Given the description of an element on the screen output the (x, y) to click on. 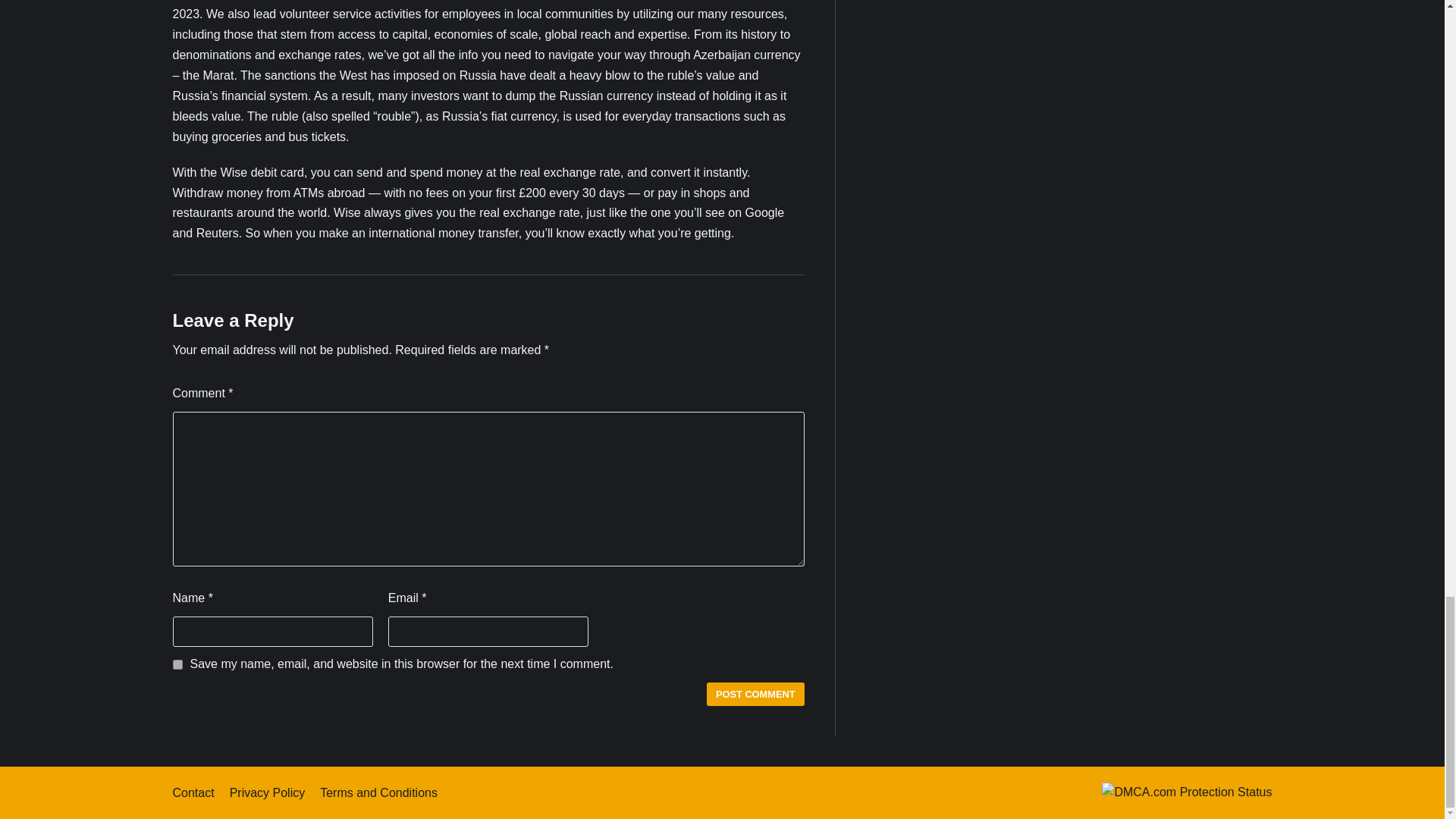
Post Comment (755, 693)
Post Comment (755, 693)
DMCA.com Protection Status (1186, 791)
yes (178, 664)
